Given the description of an element on the screen output the (x, y) to click on. 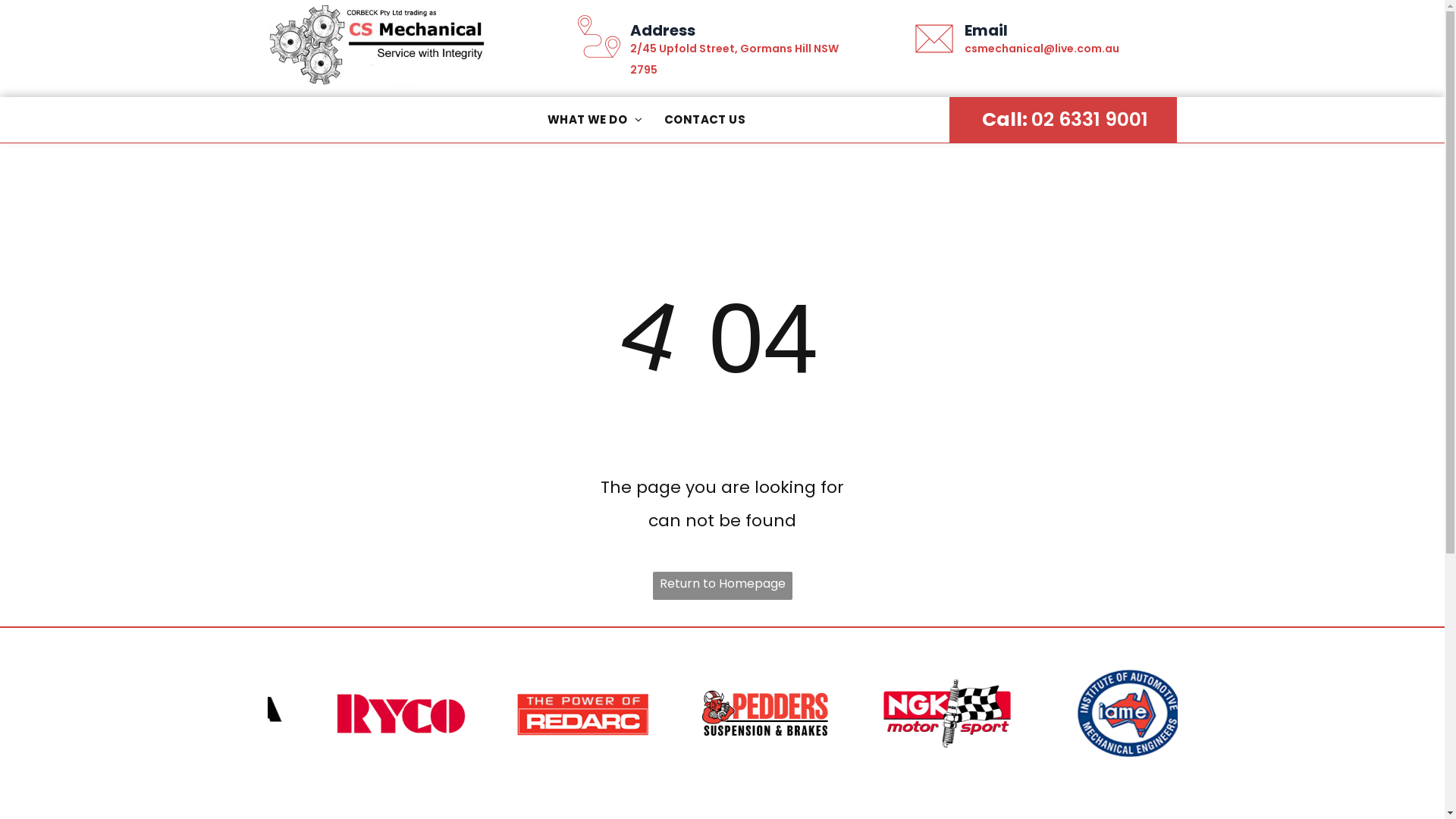
https://www.snapontools.com.au Element type: text (225, 713)
WHAT WE DO Element type: text (594, 119)
https://www.rycofilters.com.au Element type: text (576, 713)
https://www.ngk.com.au Element type: text (1103, 713)
Location Icon Element type: hover (598, 36)
https://www.rdabrakes.com.au Element type: text (400, 713)
Return to Homepage Element type: text (721, 585)
https://www.pedders.com.au Element type: text (924, 713)
CONTACT US Element type: text (704, 119)
02 6331 9001 Element type: text (1089, 119)
https://www.iame.com.au Element type: text (1279, 713)
2/45 Upfold Street, Gormans Hill NSW 2795 Element type: text (734, 58)
csmechanical@live.com.au Element type: text (1041, 48)
Mechanics in Bathurst NSW 2795 Element type: hover (376, 45)
Email Icon Element type: hover (934, 38)
